Given the description of an element on the screen output the (x, y) to click on. 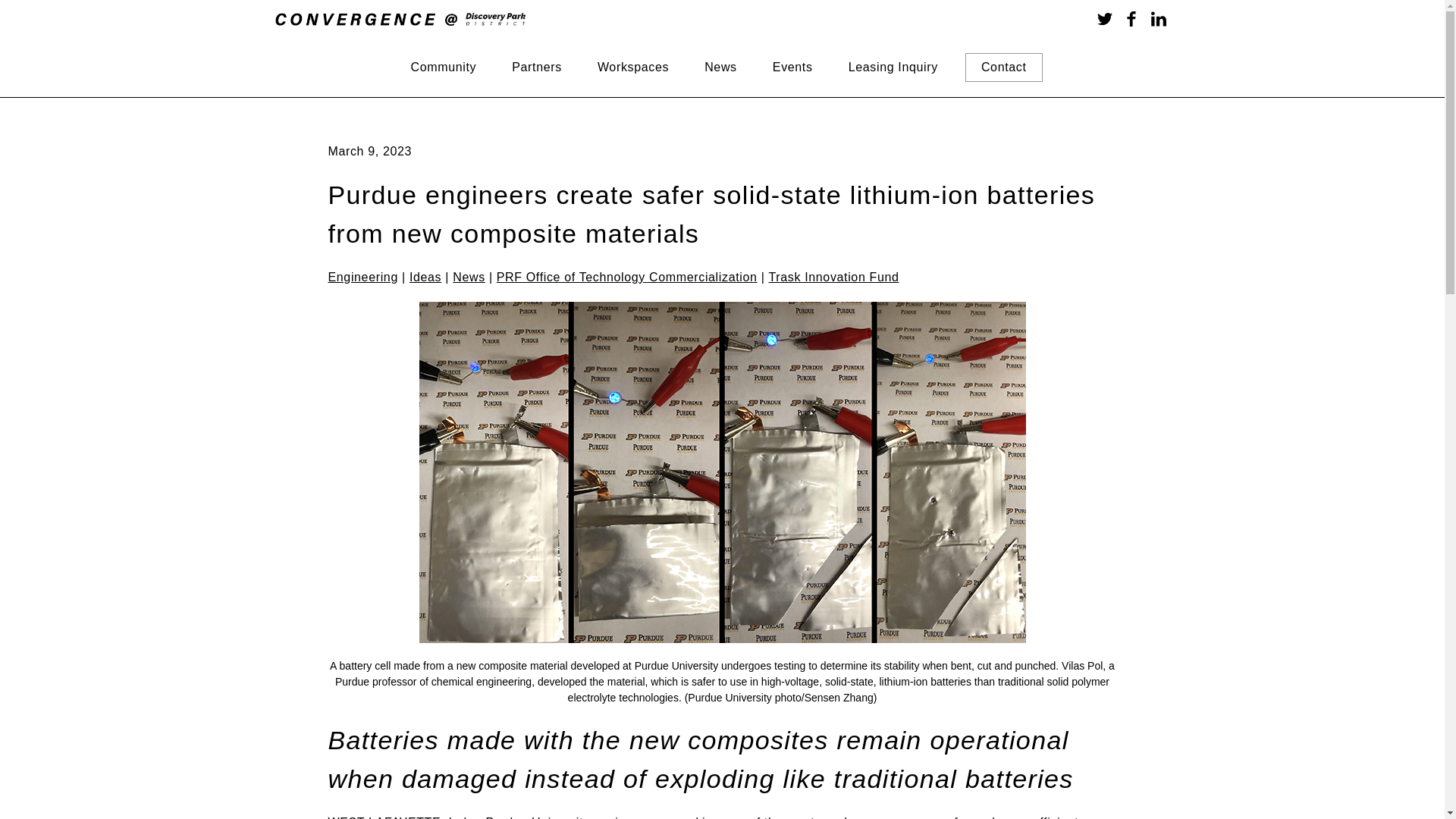
Partners (536, 66)
News (468, 277)
PRF Office of Technology Commercialization (626, 277)
Contact (1003, 67)
Ideas (425, 277)
Engineering (362, 277)
Trask Innovation Fund (833, 277)
Events (792, 66)
Leasing Inquiry (893, 66)
News (720, 66)
Workspaces (632, 66)
Community (443, 66)
